Given the description of an element on the screen output the (x, y) to click on. 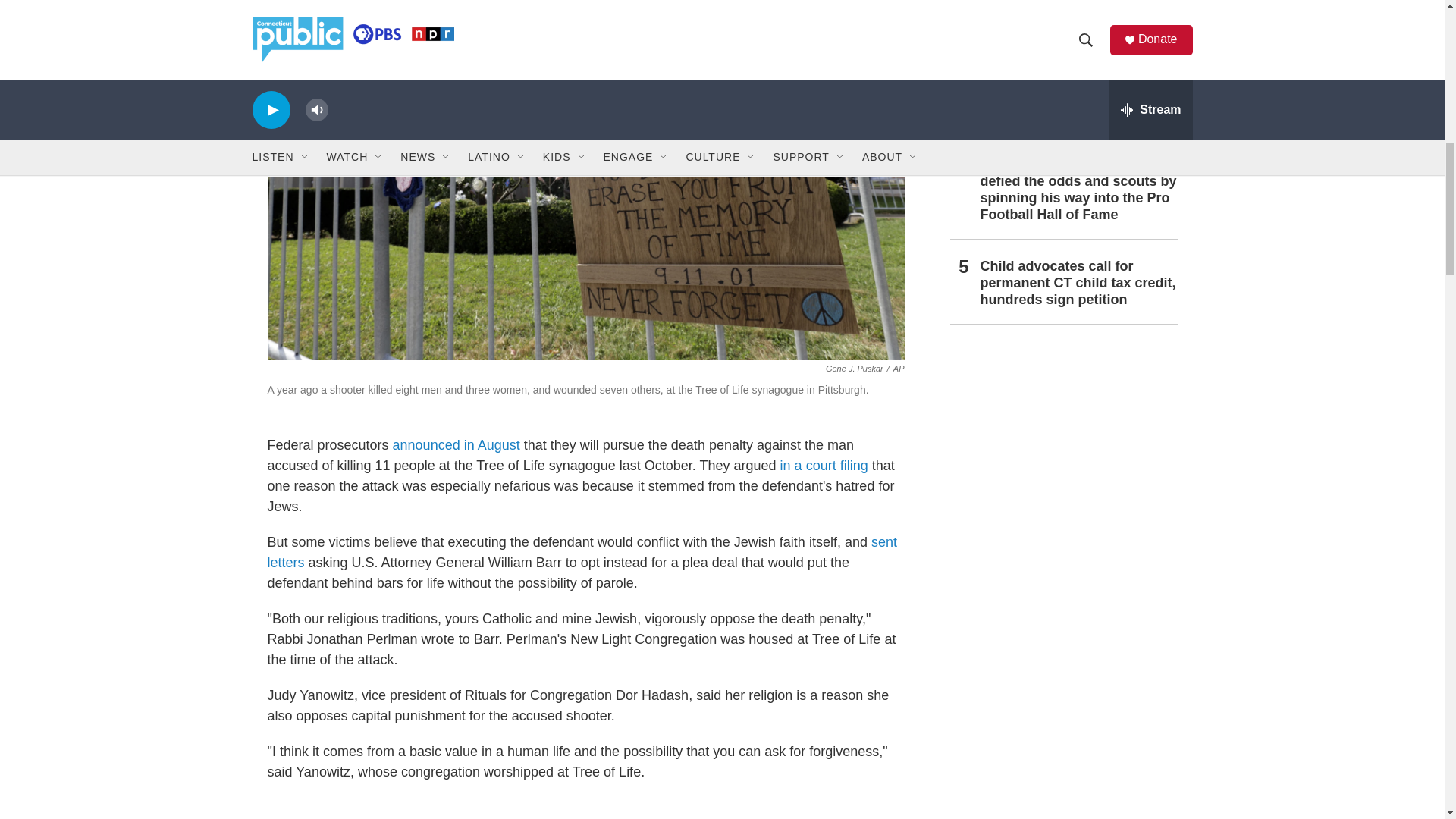
3rd party ad content (1062, 449)
3rd party ad content (585, 808)
3rd party ad content (1062, 669)
3rd party ad content (1062, 806)
